Given the description of an element on the screen output the (x, y) to click on. 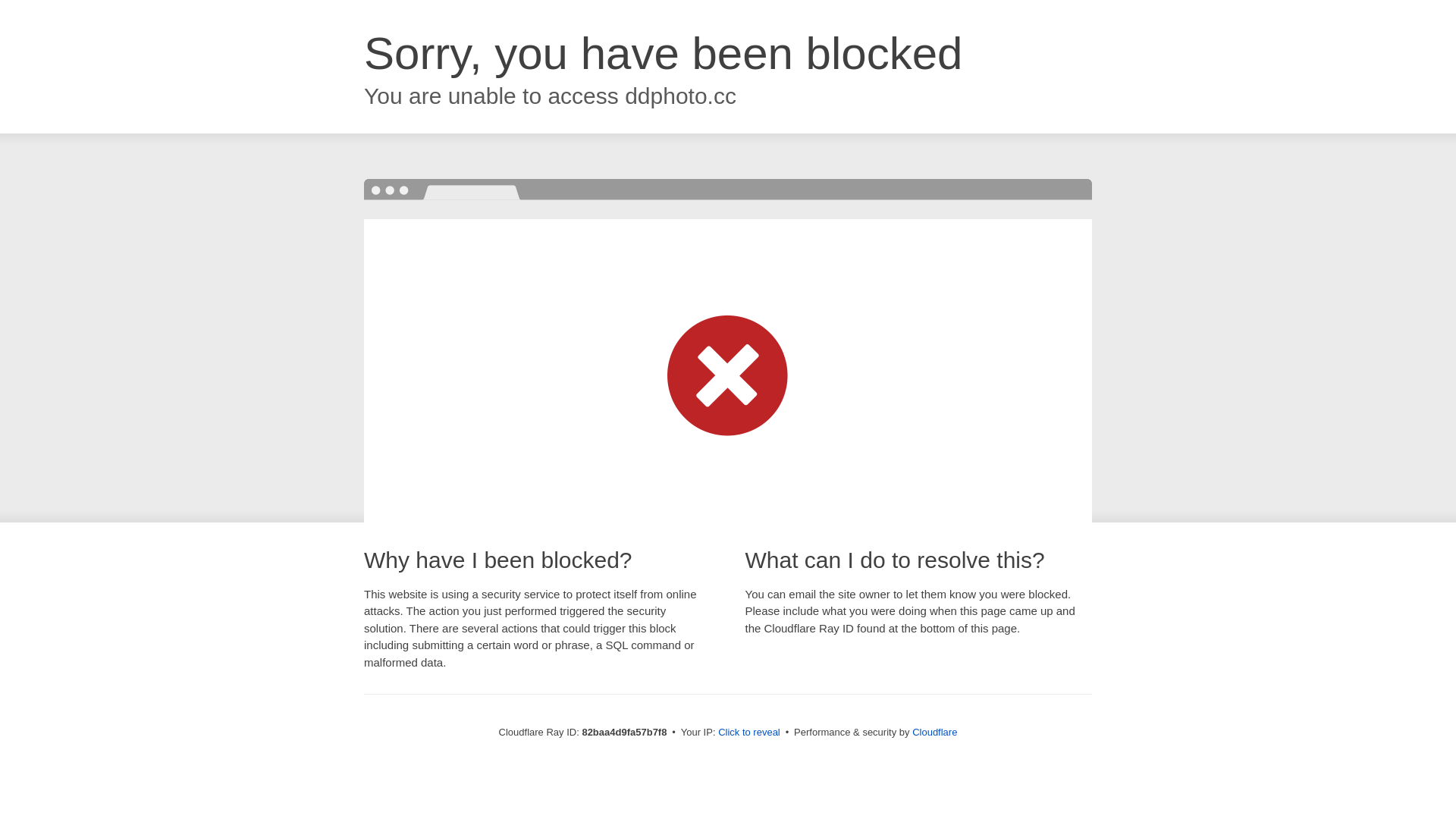
Click to reveal Element type: text (749, 732)
Cloudflare Element type: text (934, 731)
